Given the description of an element on the screen output the (x, y) to click on. 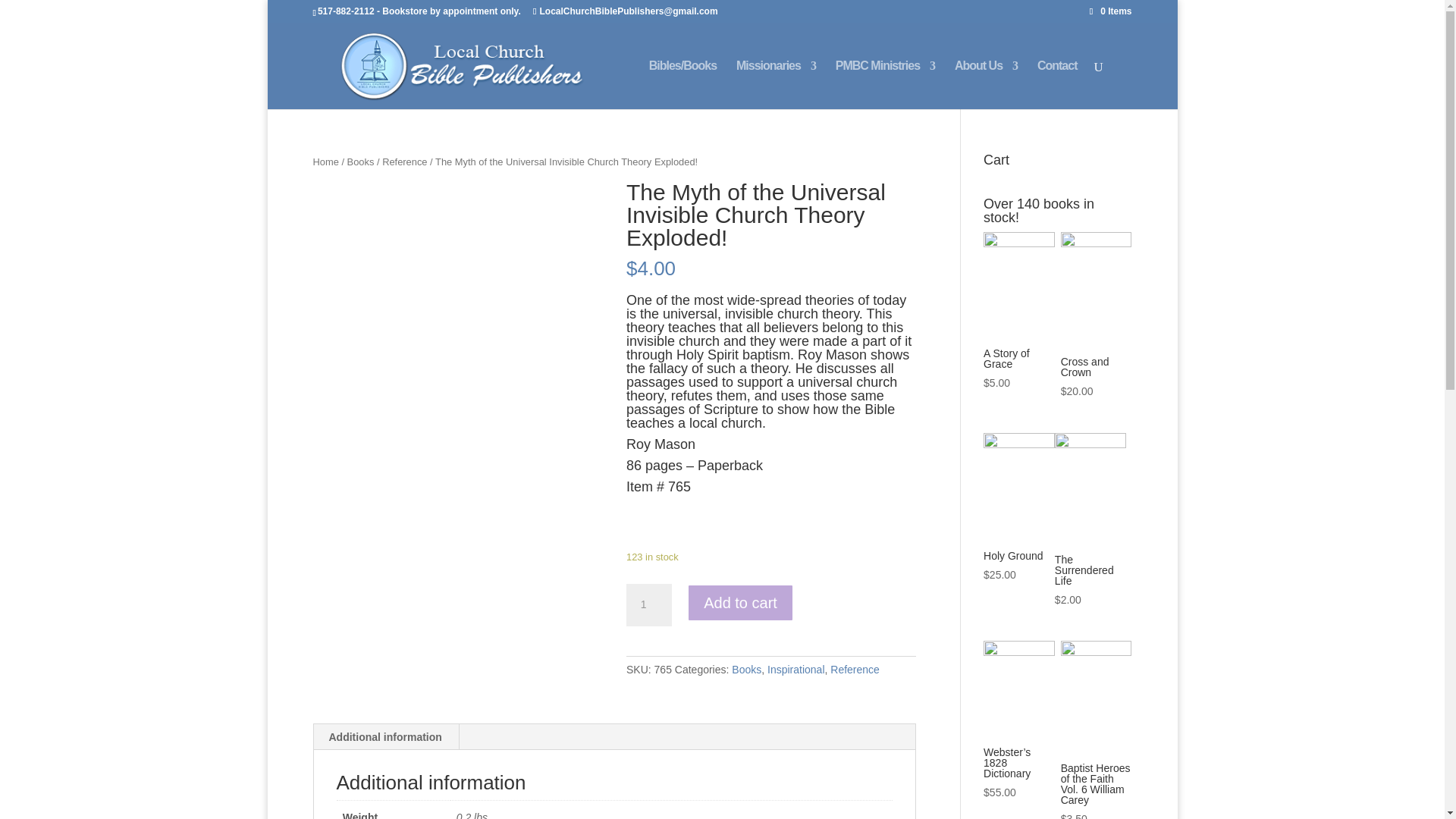
Books (746, 669)
Add to cart (740, 602)
Books (360, 161)
Reference (854, 669)
About Us (986, 84)
Additional information (385, 736)
Inspirational (796, 669)
Reference (403, 161)
1 (648, 604)
PMBC Ministries (884, 84)
